Given the description of an element on the screen output the (x, y) to click on. 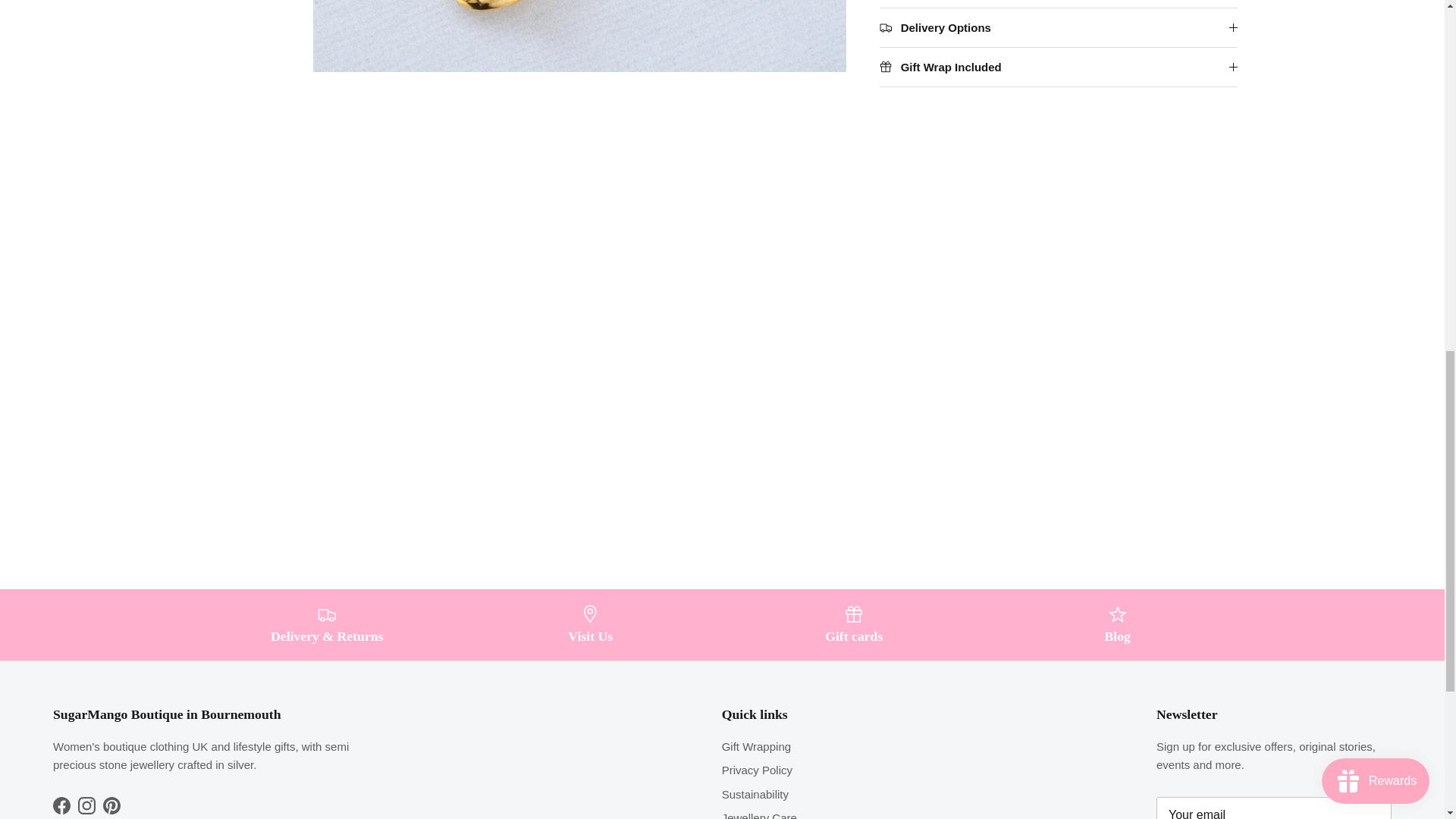
Sugar Mango on Pinterest (111, 805)
Sugar Mango on Instagram (87, 805)
Sugar Mango on Facebook (60, 805)
